Given the description of an element on the screen output the (x, y) to click on. 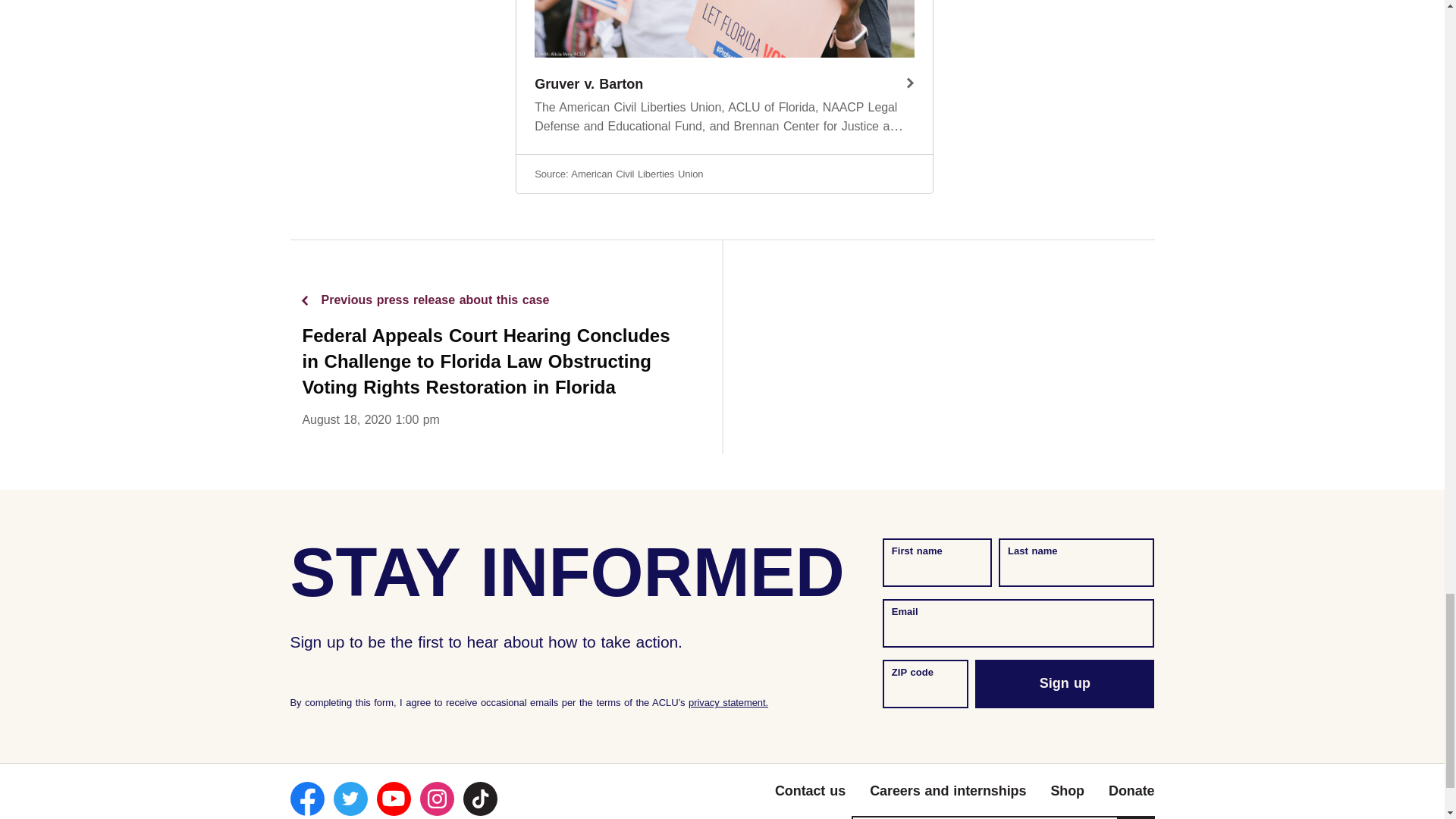
search (1136, 817)
Follow the ACLU on Facebook (306, 798)
Follow the ACLU on TikTok (479, 798)
Follow the ACLU on Twitter (350, 798)
Follow the ACLU on YouTube (392, 798)
Follow the ACLU on Instagram (437, 798)
